Given the description of an element on the screen output the (x, y) to click on. 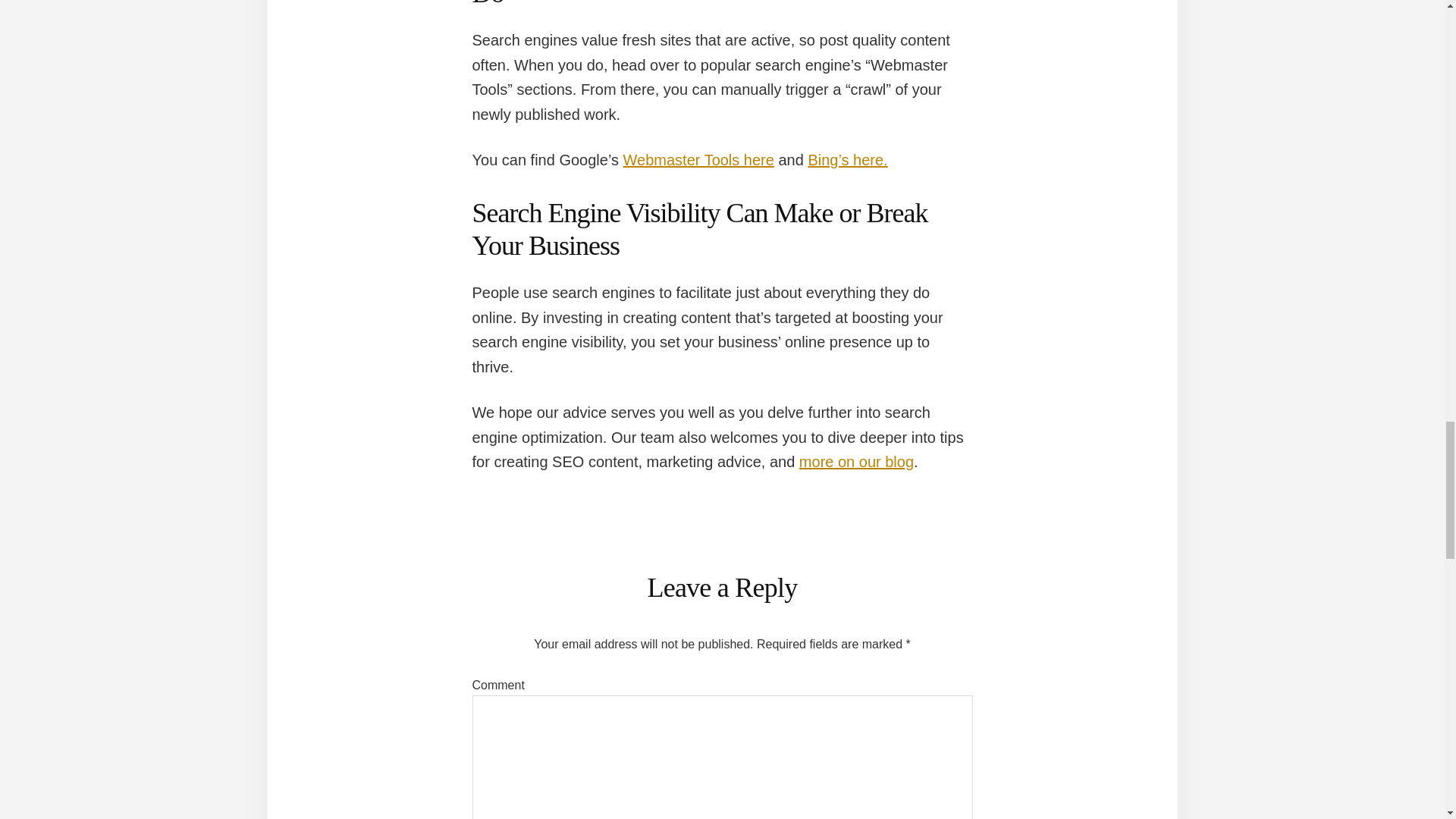
more on our blog (856, 461)
Webmaster Tools here (698, 159)
